Given the description of an element on the screen output the (x, y) to click on. 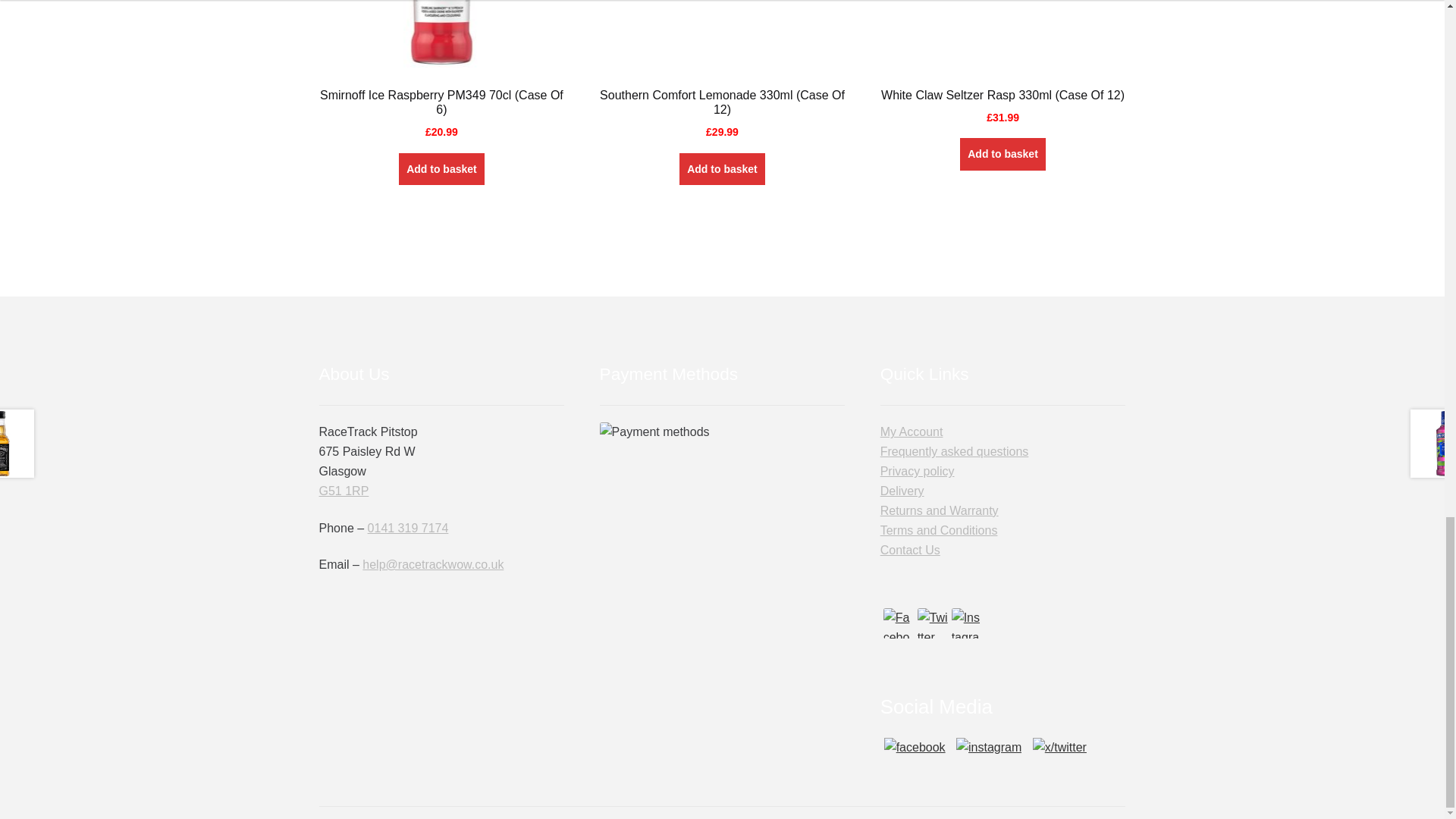
Facebook (898, 623)
Twitter (932, 623)
Payment Methods (722, 448)
Instagram (966, 623)
